Given the description of an element on the screen output the (x, y) to click on. 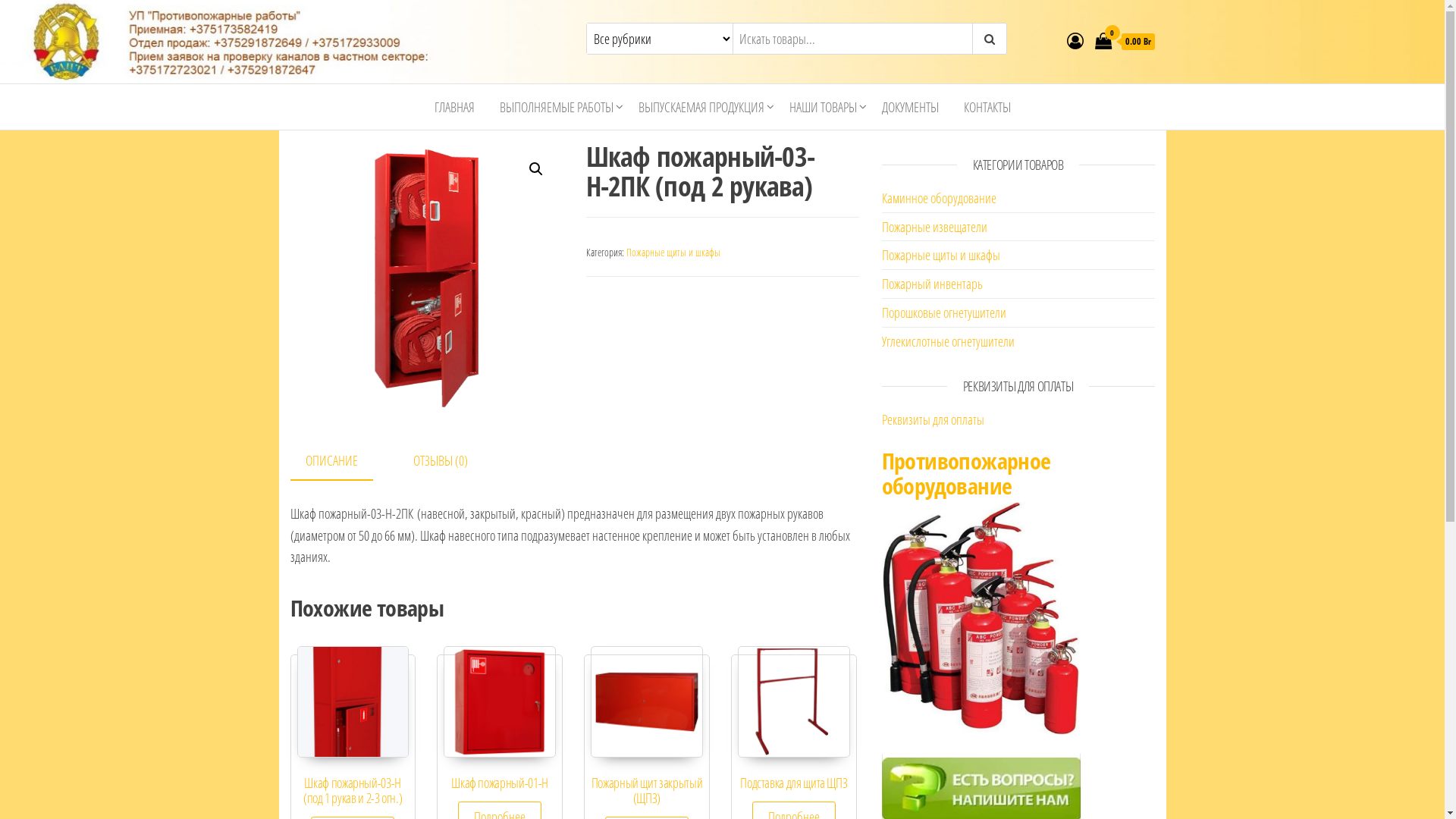
0
0.00 Br Element type: text (1124, 40)
